Given the description of an element on the screen output the (x, y) to click on. 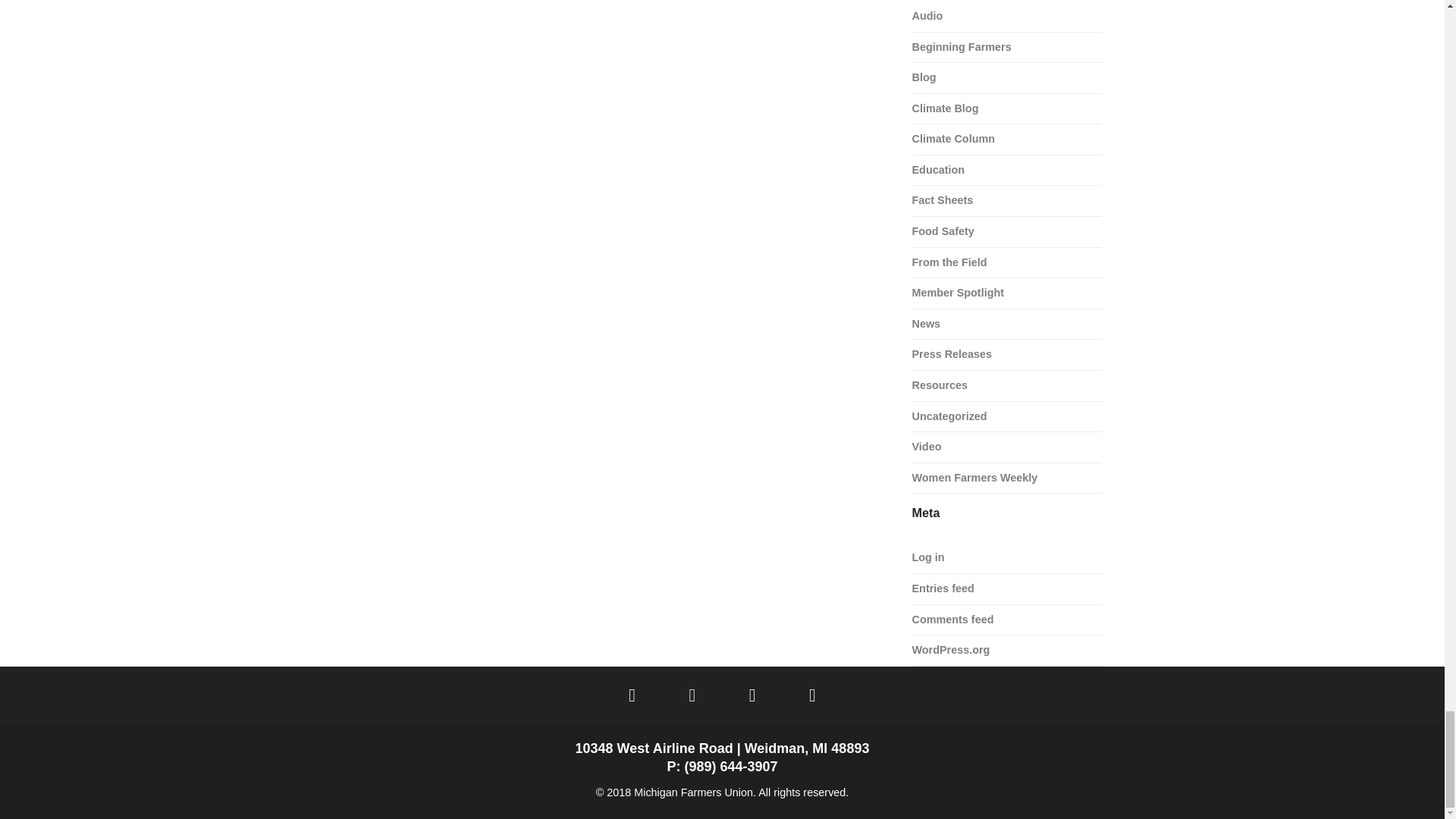
Michigan Farmers Union on Facebook (632, 695)
Michigan Farmers Union on Twitter (692, 695)
Michigan Farmers Union on Youtube (812, 695)
Michigan Farmers Union on Instagram (751, 695)
